Given the description of an element on the screen output the (x, y) to click on. 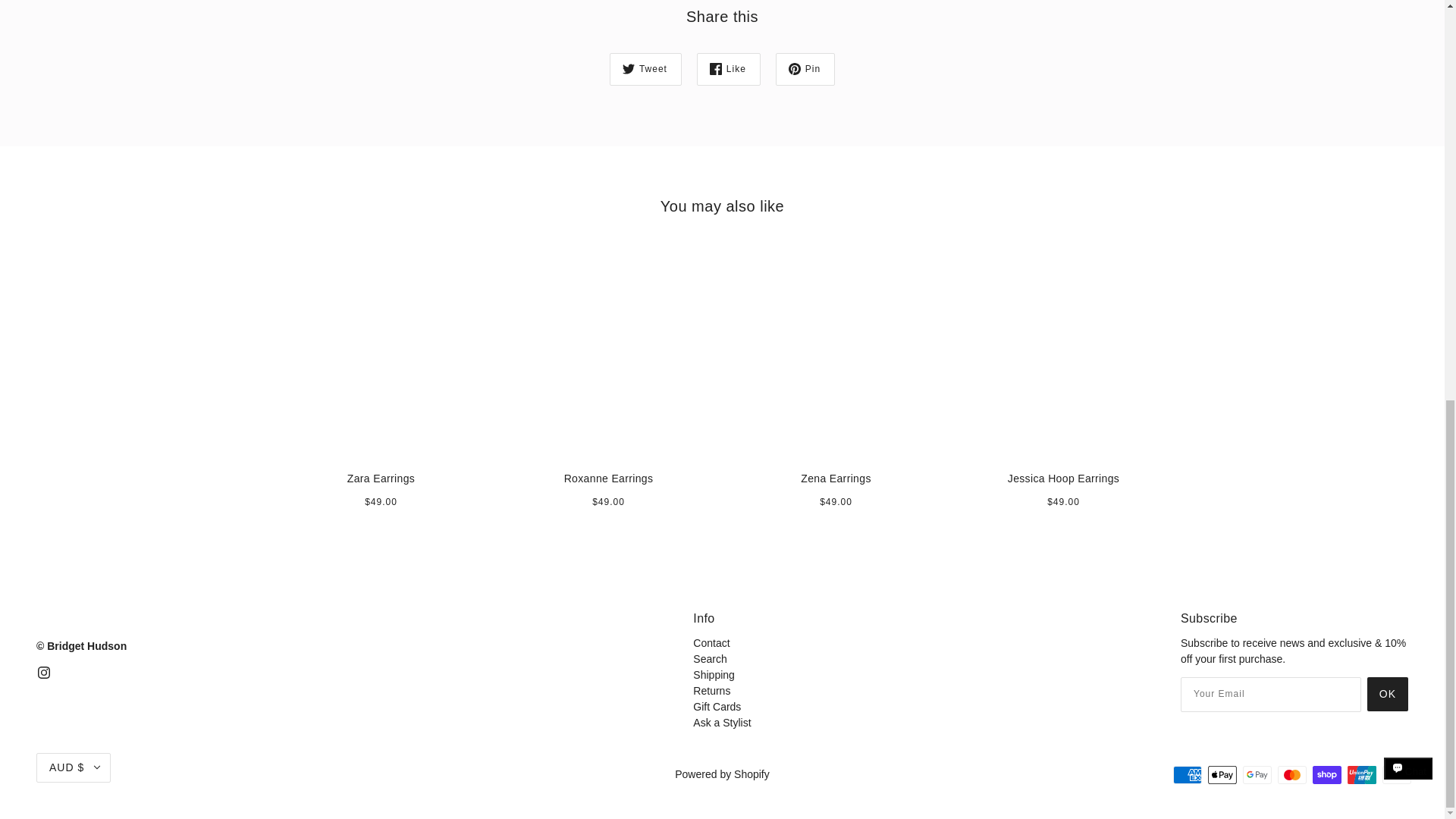
American Express (1187, 774)
Search (709, 658)
Visa (1395, 774)
Shopify online store chat (1408, 12)
Contact (711, 643)
Ask a Stylist (722, 722)
Returns (711, 690)
Shipping (714, 674)
Gift Cards (717, 706)
Shop Pay (1326, 774)
Apple Pay (1222, 774)
Google Pay (1257, 774)
Mastercard (1292, 774)
Union Pay (1361, 774)
